Given the description of an element on the screen output the (x, y) to click on. 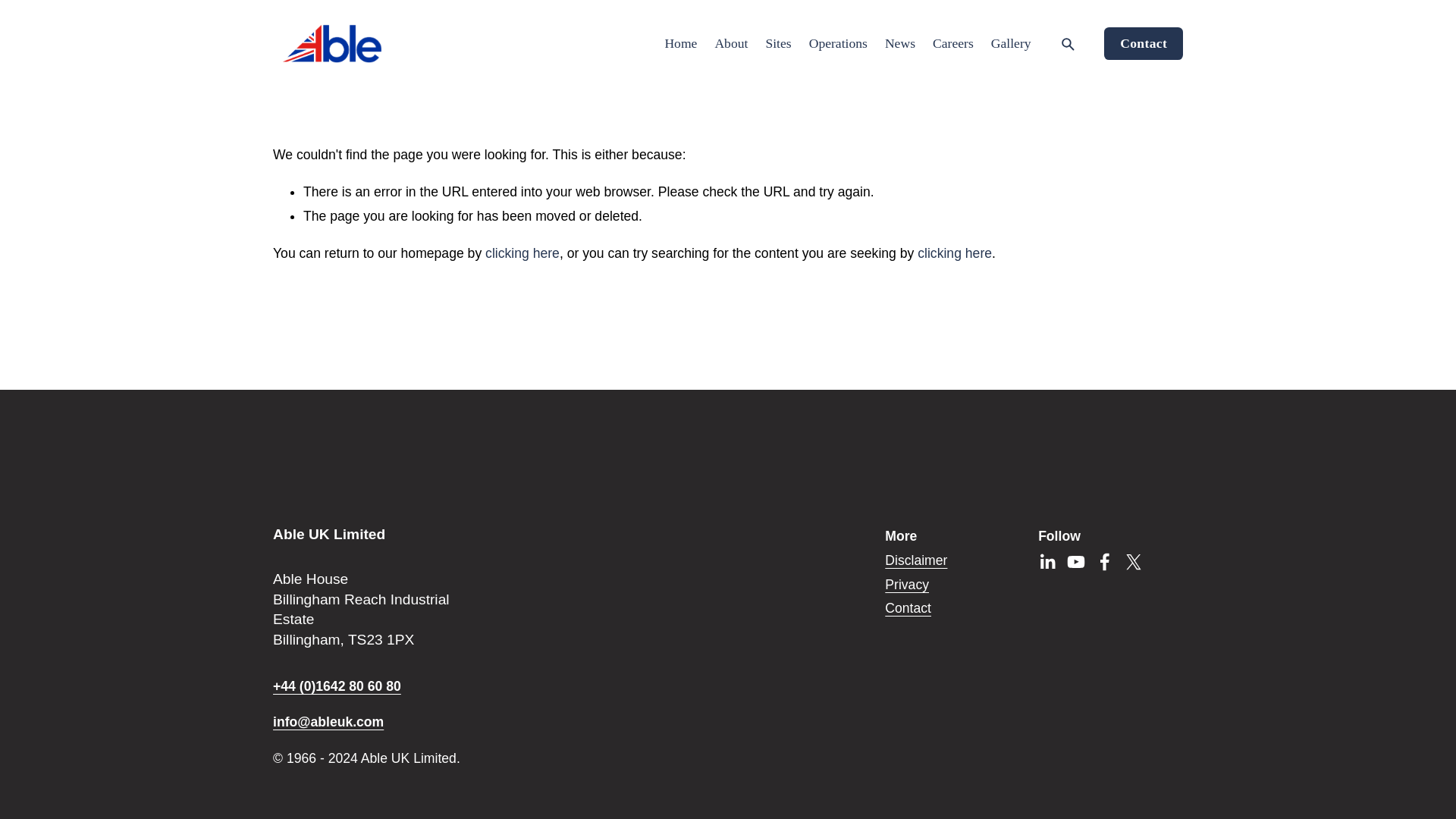
Gallery (1010, 43)
Home (680, 43)
Operations (838, 43)
News (900, 43)
Sites (777, 43)
Disclaimer (916, 560)
Contact (908, 608)
About (731, 43)
Contact (1142, 43)
Search Search This Website (1067, 43)
